Given the description of an element on the screen output the (x, y) to click on. 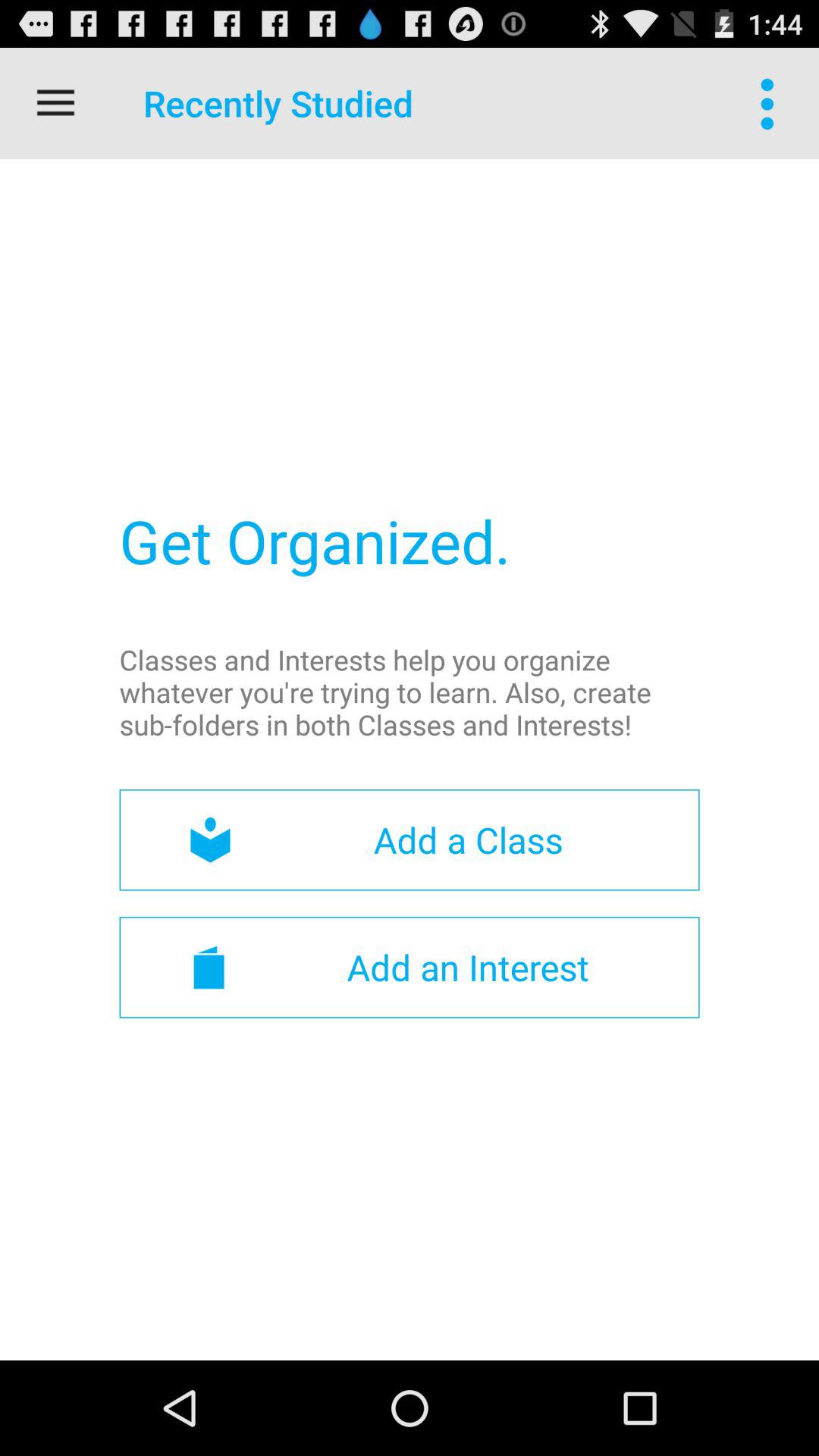
choose item below the add a class icon (409, 967)
